Given the description of an element on the screen output the (x, y) to click on. 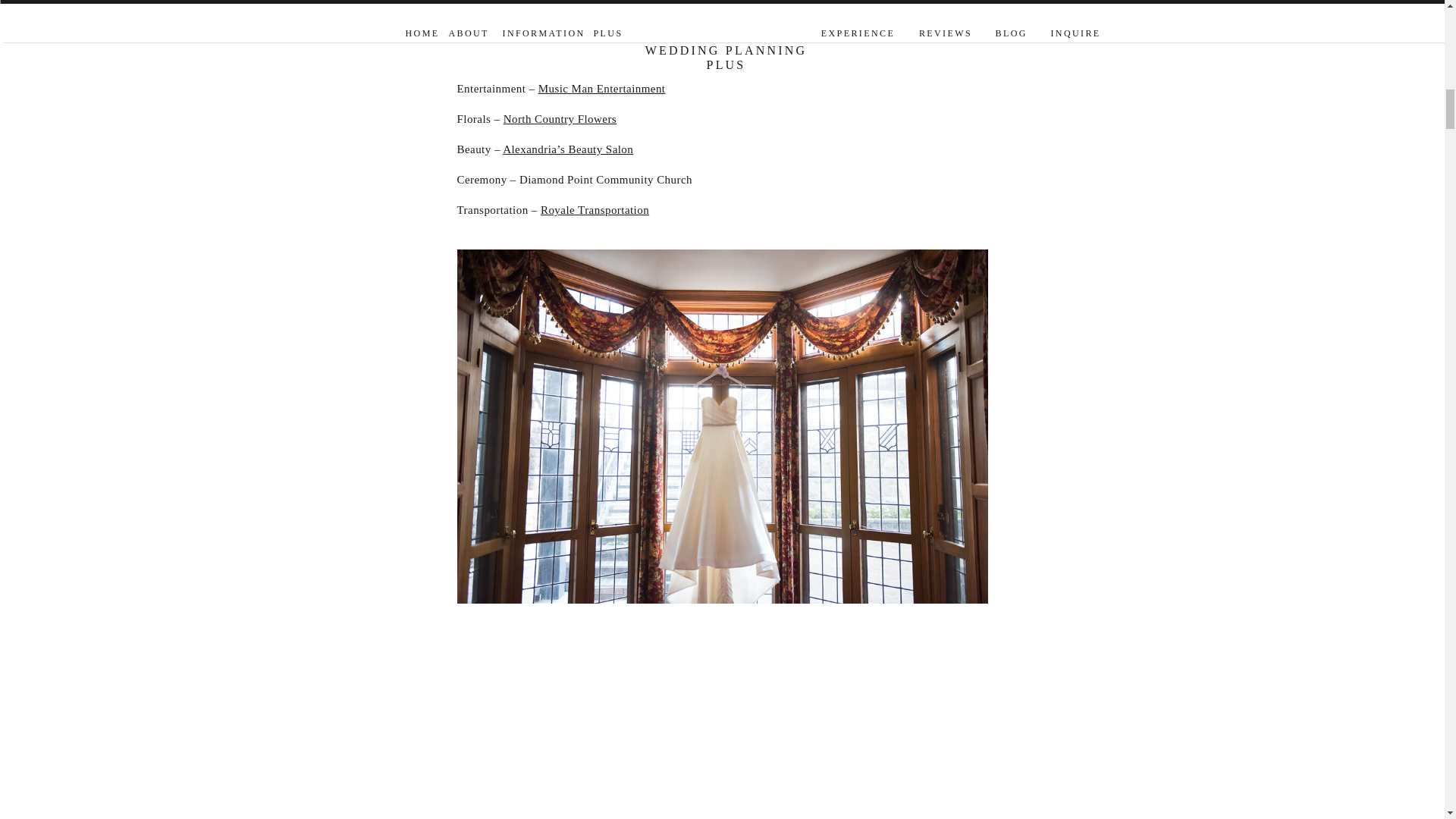
The Inn at Erlowest (547, 58)
Music Man Entertainment (601, 88)
Kerri Lynn Photography (556, 28)
North Country Flowers (559, 119)
Royale Transportation (594, 209)
